Given the description of an element on the screen output the (x, y) to click on. 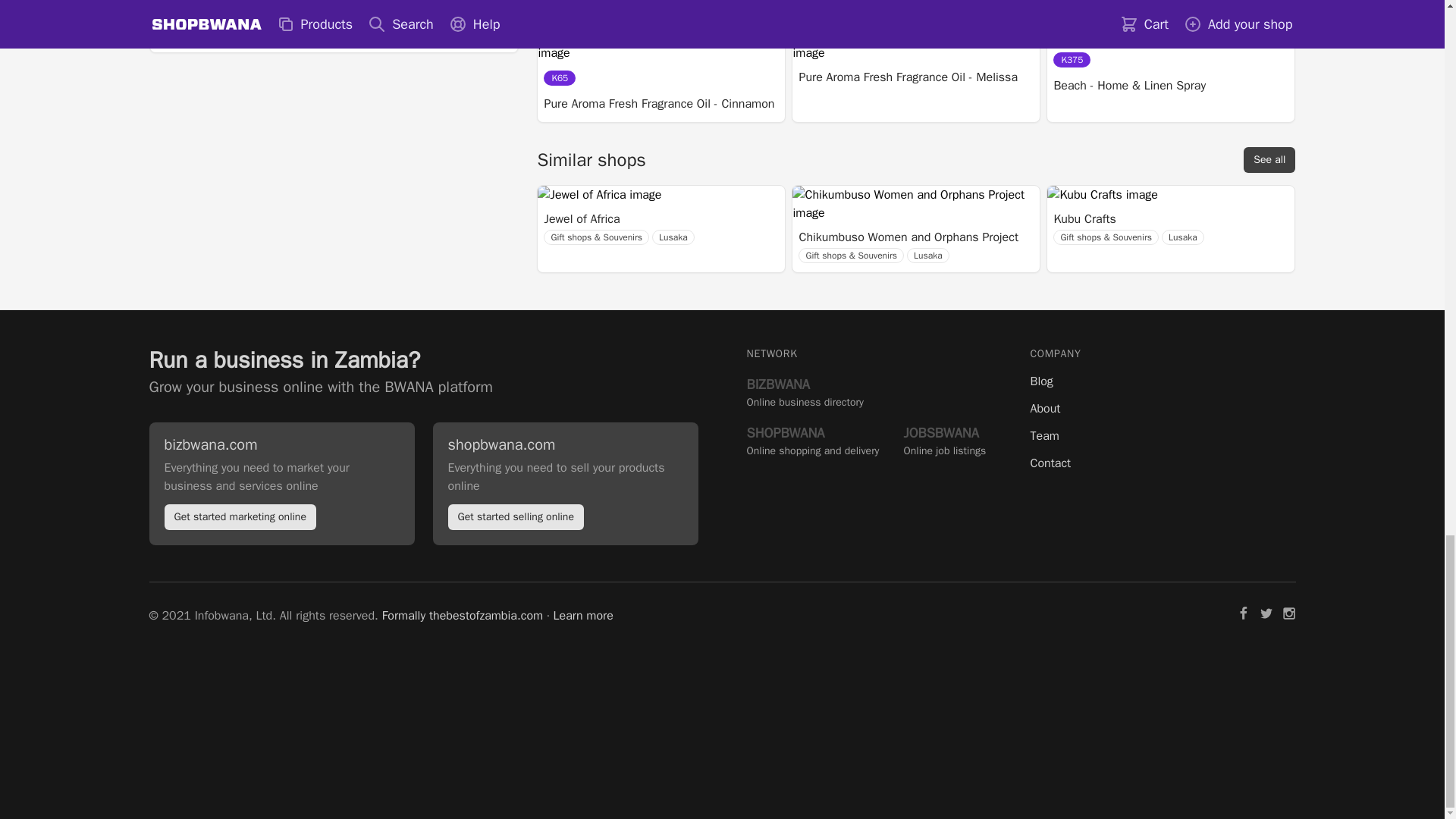
View more (189, 30)
Jewel of Africa (620, 218)
Pure Aroma Fresh Fragrance Oil  - Cinnamon (658, 104)
Infinity  - Reed Diffuser Refill  (617, 1)
Kubu Crafts (1129, 218)
Chikumbuso Women and Orphans Project (907, 237)
Pure Aroma  Fresh Fragrance Oil  - Melissa (907, 76)
